Given the description of an element on the screen output the (x, y) to click on. 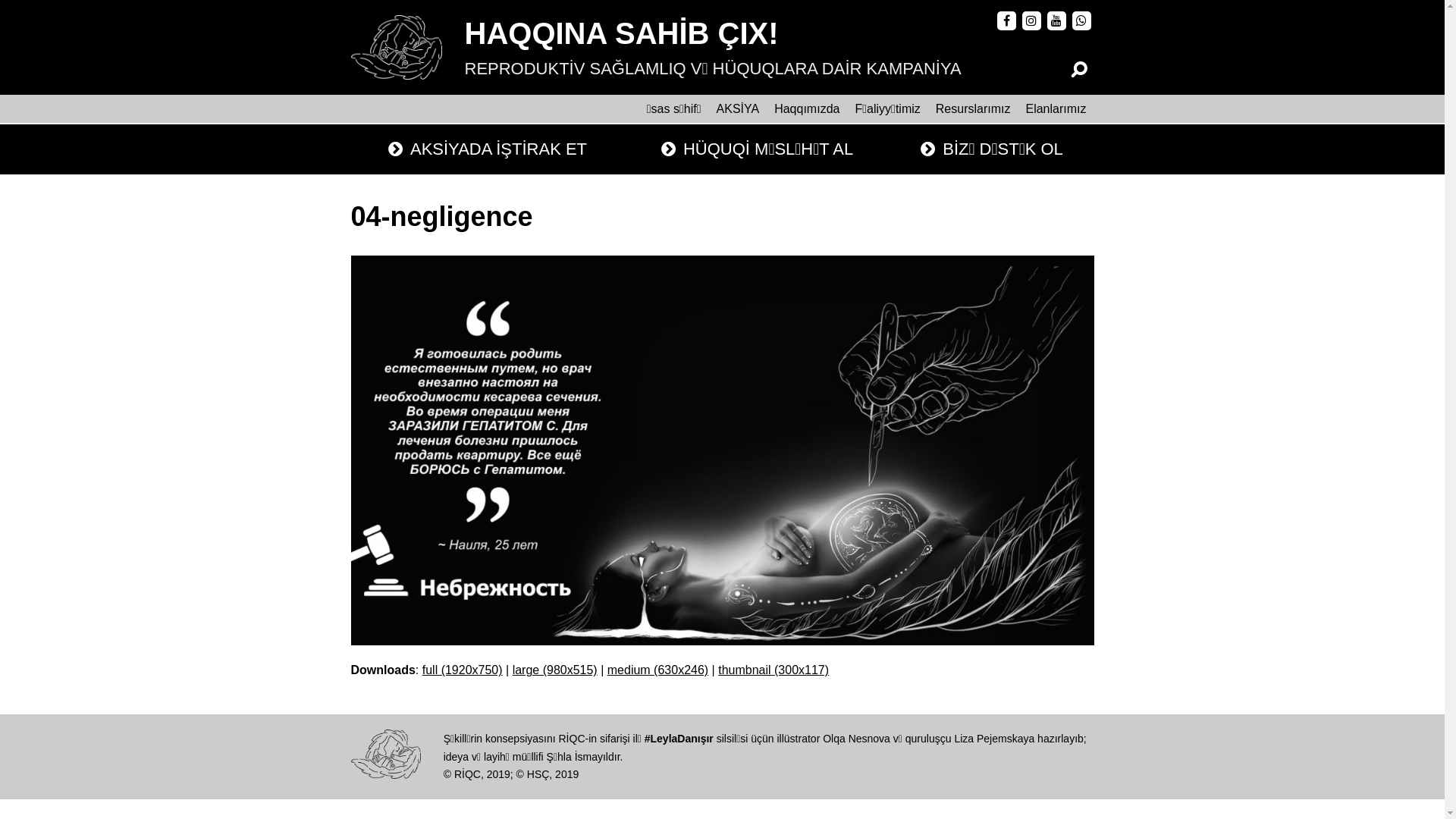
large (980x515) Element type: text (554, 669)
full (1920x750) Element type: text (462, 669)
medium (630x246) Element type: text (657, 669)
thumbnail (300x117) Element type: text (773, 669)
